Given the description of an element on the screen output the (x, y) to click on. 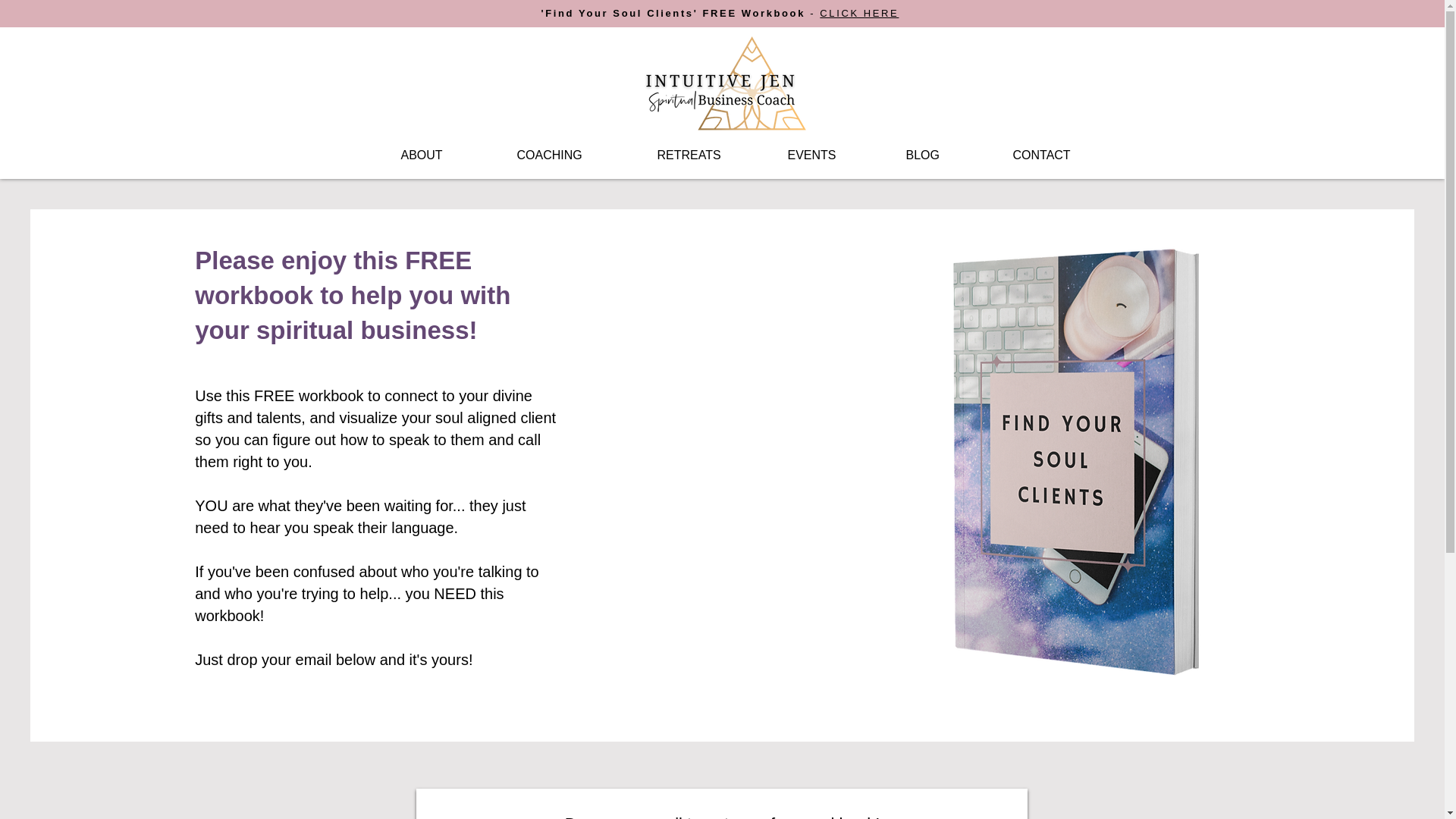
CONTACT (1066, 155)
ABOUT (447, 155)
BLOG (948, 155)
COACHING (575, 155)
EVENTS (835, 155)
RETREATS (711, 155)
CLICK HERE (858, 12)
